Given the description of an element on the screen output the (x, y) to click on. 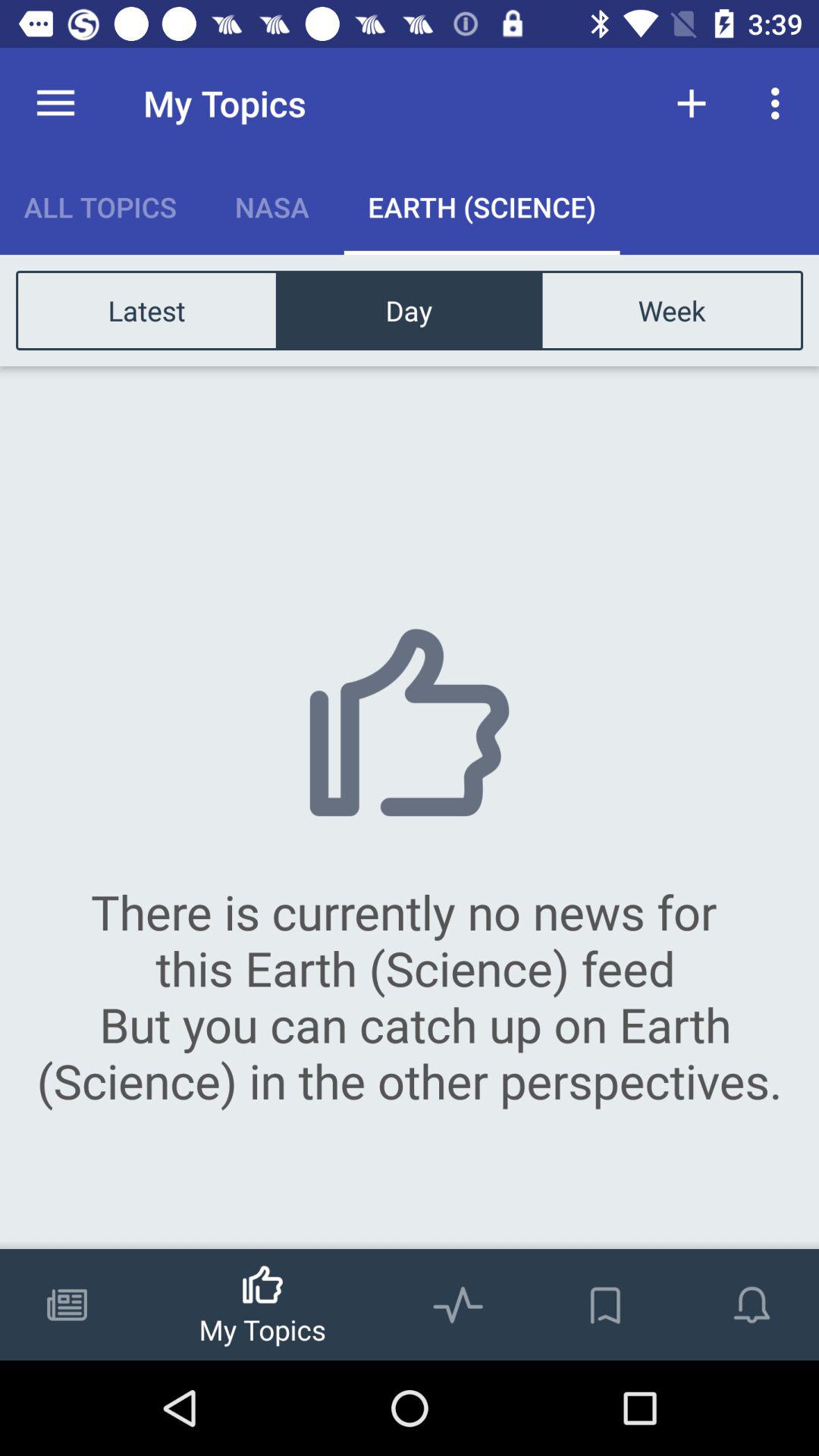
swipe until day item (409, 310)
